Given the description of an element on the screen output the (x, y) to click on. 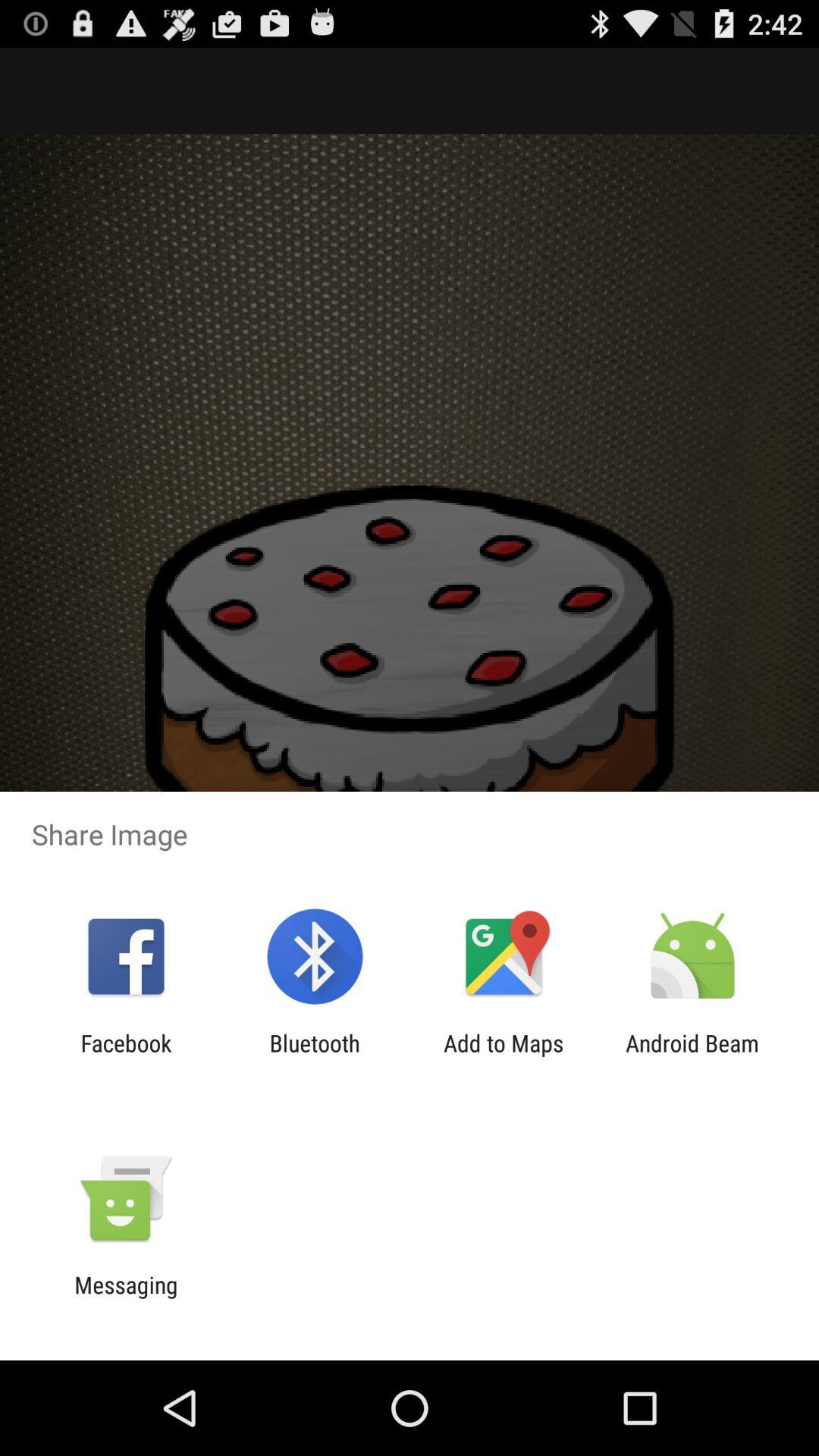
turn off the messaging icon (126, 1298)
